Given the description of an element on the screen output the (x, y) to click on. 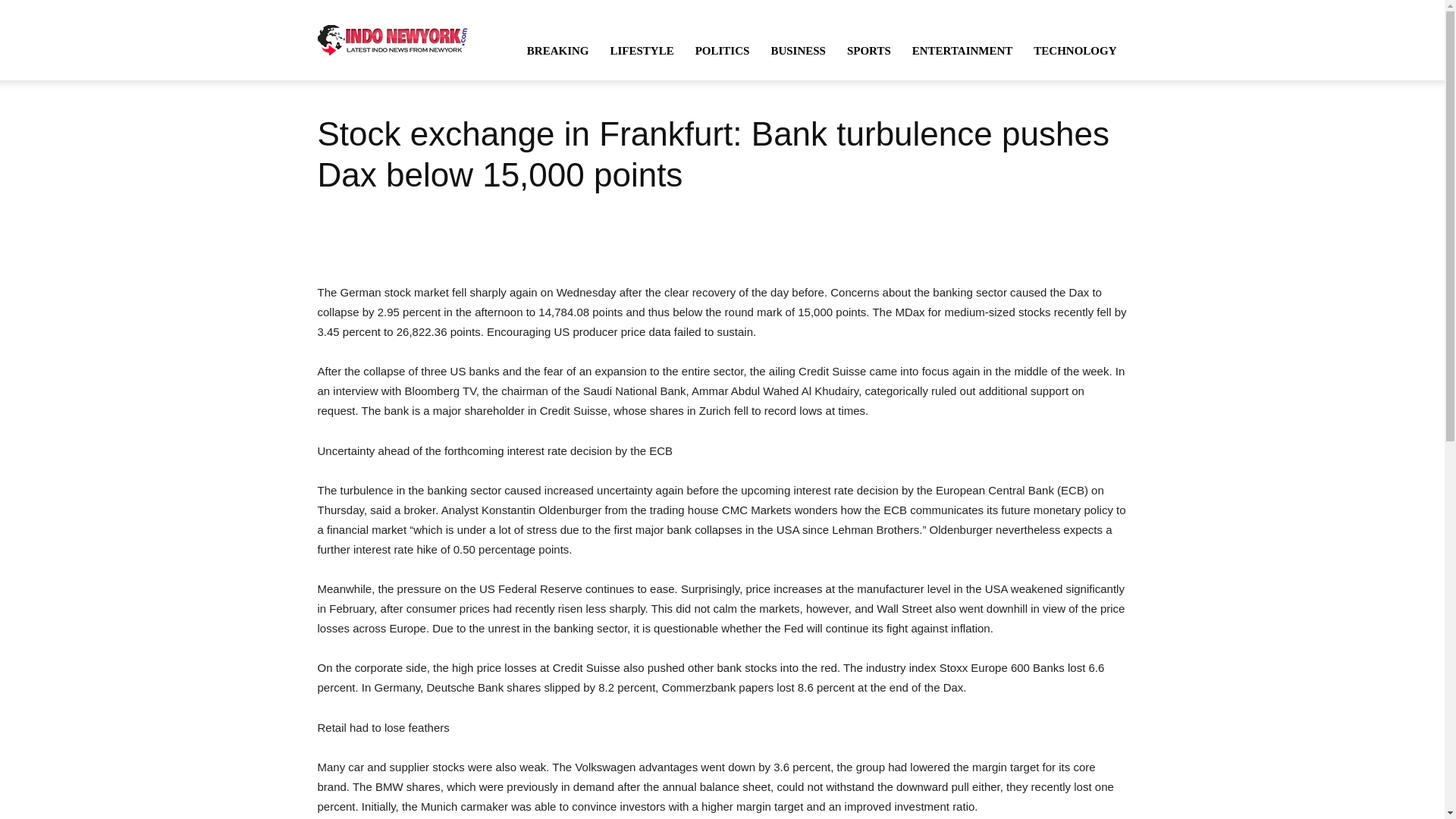
LIFESTYLE (641, 50)
ENTERTAINMENT (962, 50)
BREAKING (557, 50)
TECHNOLOGY (1074, 50)
POLITICS (722, 50)
Indo Newyork (392, 39)
BUSINESS (797, 50)
SPORTS (868, 50)
